Given the description of an element on the screen output the (x, y) to click on. 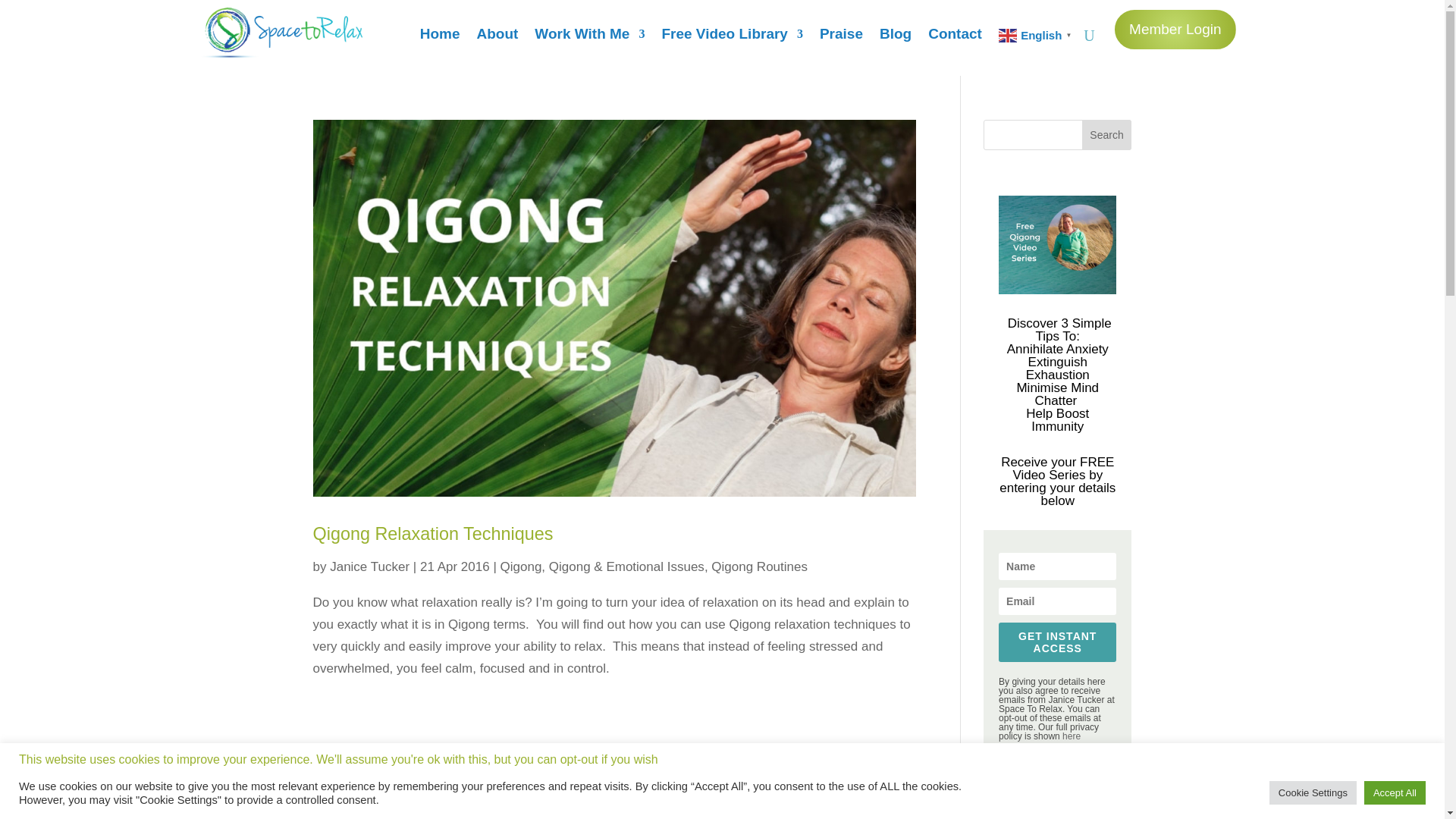
Home (440, 38)
Free Video Library (732, 38)
Praise (841, 38)
About (497, 38)
Posts by Janice Tucker (369, 566)
Work With Me (589, 38)
Search (1106, 134)
Contact (954, 38)
Blog (895, 38)
SpaceToRelax-logo (279, 32)
